Given the description of an element on the screen output the (x, y) to click on. 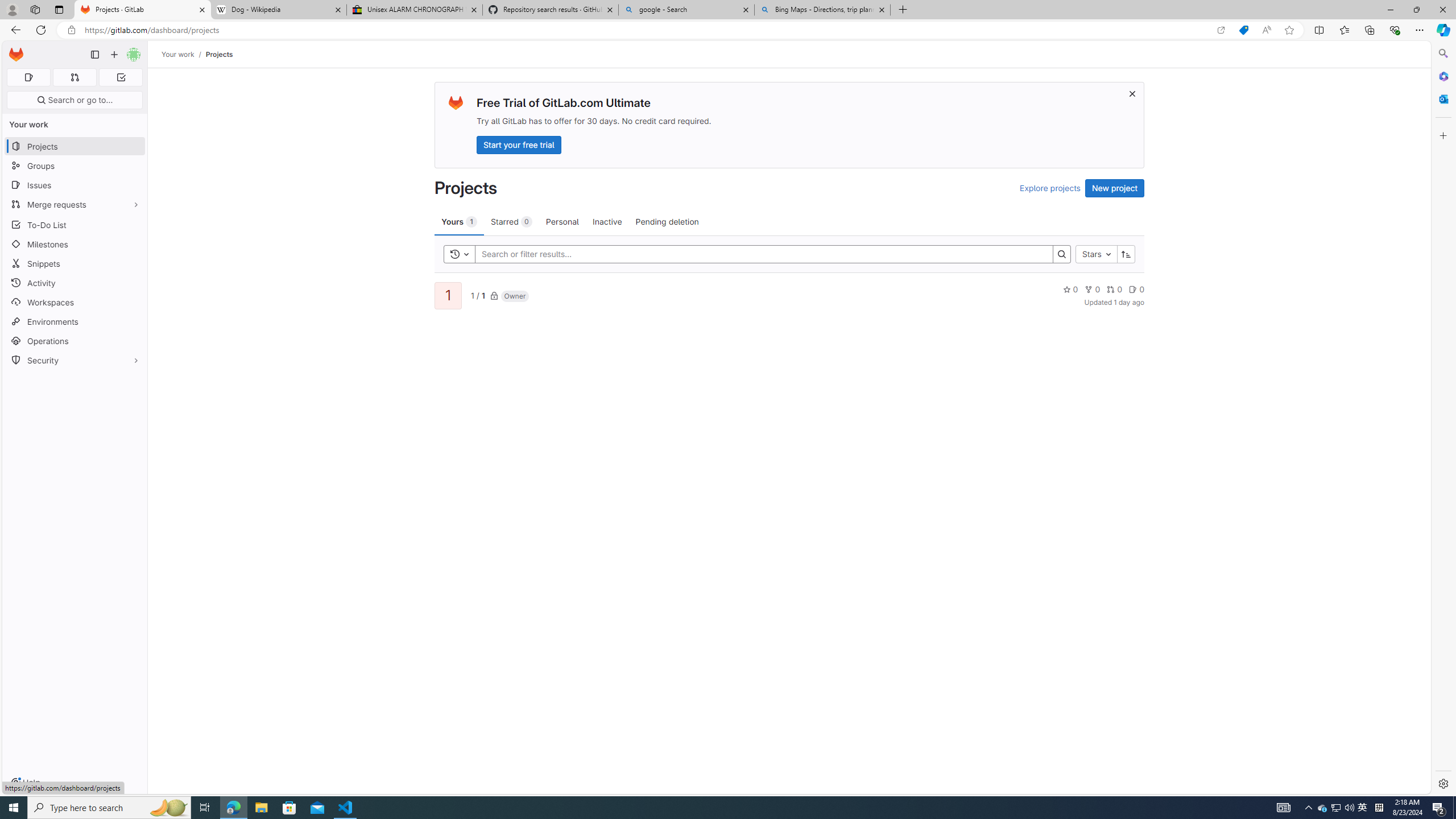
google - Search (685, 9)
Primary navigation sidebar (94, 54)
Explore projects (1049, 187)
Help (25, 782)
Side bar (1443, 418)
Environments (74, 321)
Start your free trial (519, 144)
